Given the description of an element on the screen output the (x, y) to click on. 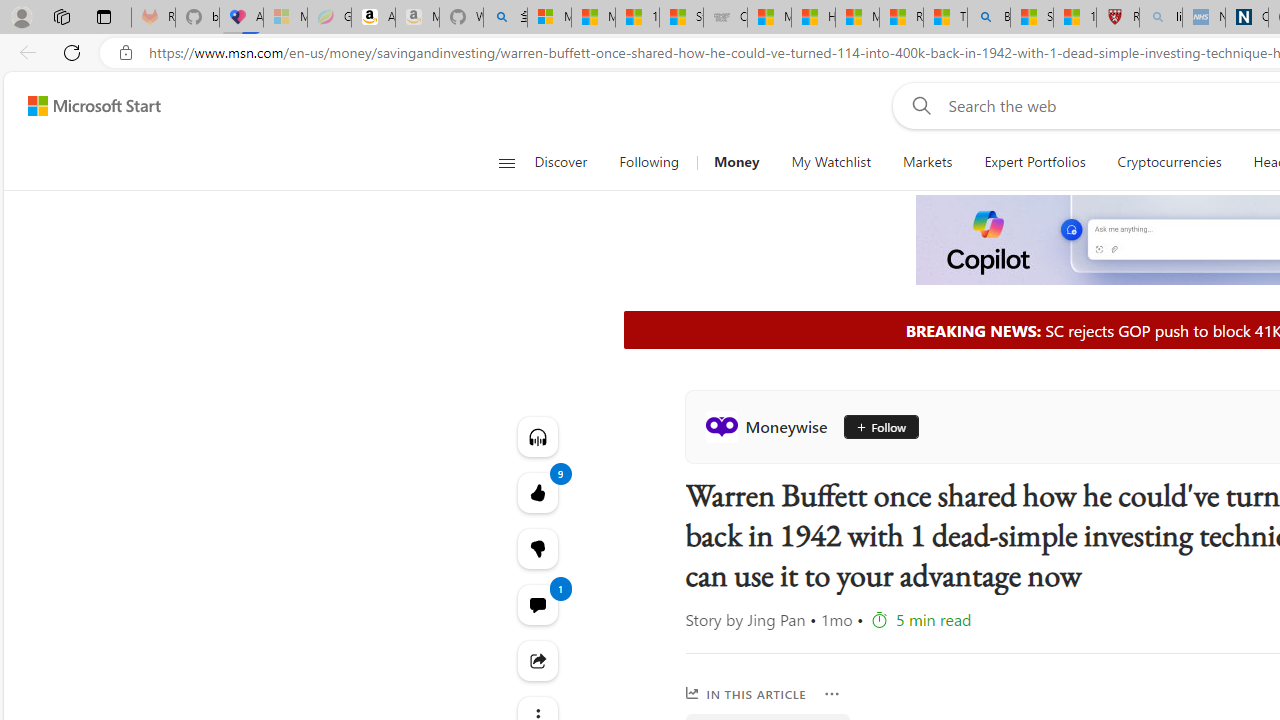
Markets (926, 162)
My Watchlist (830, 162)
Cryptocurrencies (1169, 162)
Share this story (537, 660)
